Given the description of an element on the screen output the (x, y) to click on. 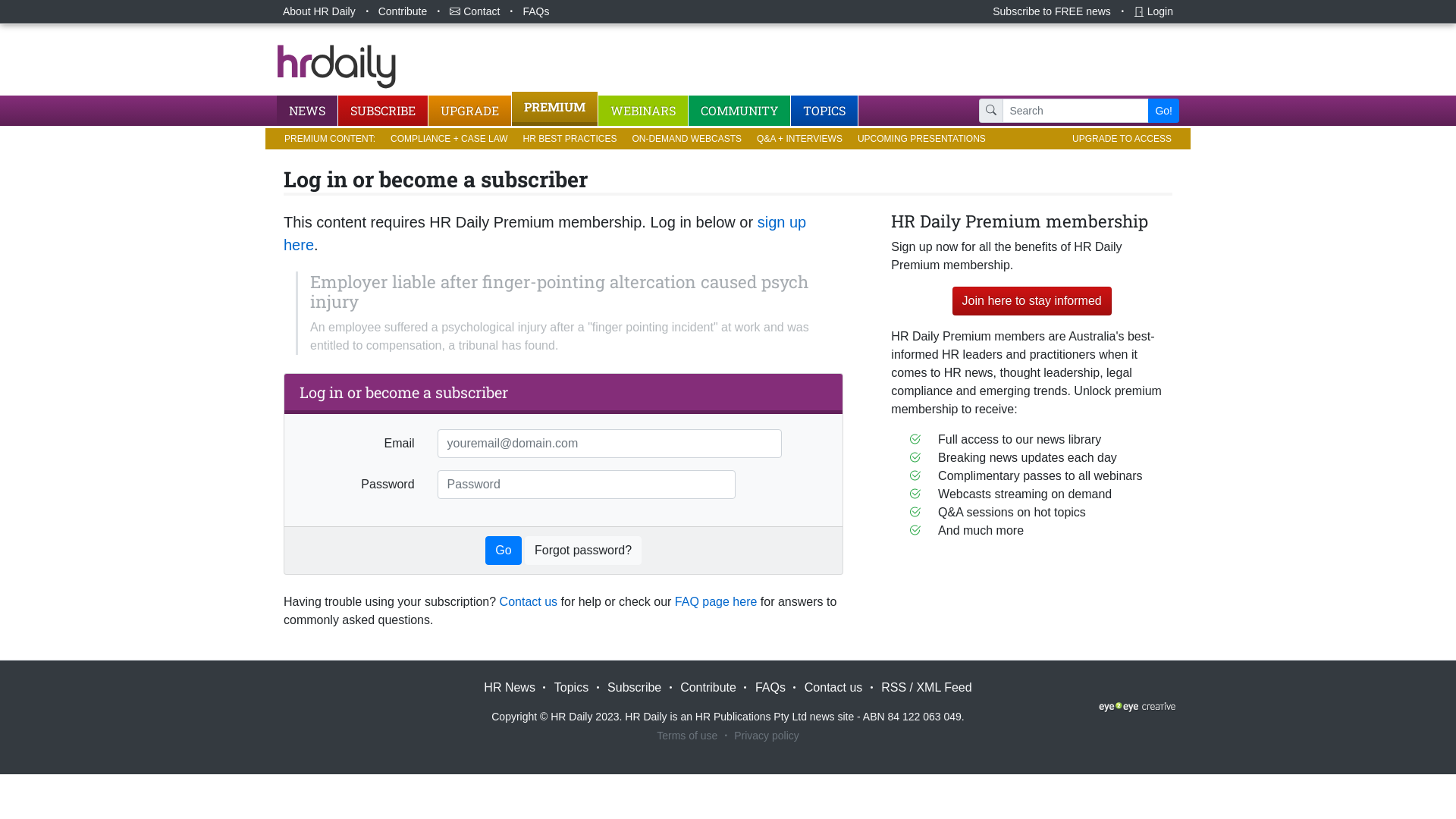
PREMIUM CONTENT: Element type: text (329, 138)
HR News Element type: text (509, 686)
Subscribe Element type: text (634, 686)
PREMIUM Element type: text (554, 108)
Login Element type: text (1153, 11)
HR BEST PRACTICES Element type: text (569, 138)
Go Element type: text (502, 550)
Contact us Element type: text (528, 601)
Privacy policy Element type: text (766, 735)
UPCOMING PRESENTATIONS Element type: text (921, 138)
UPGRADE Element type: text (469, 110)
Subscribe to FREE news Element type: text (1051, 11)
Website by Eye 2 Eye Creative Element type: hover (1137, 706)
Q&A + INTERVIEWS Element type: text (799, 138)
Join here to stay informed Element type: text (1031, 300)
Contribute Element type: text (402, 11)
About HR Daily Element type: text (318, 11)
FAQs Element type: text (535, 11)
COMMUNITY Element type: text (739, 110)
FAQ page here Element type: text (715, 601)
WEBINARS Element type: text (643, 110)
Go! Element type: text (1163, 110)
Contribute Element type: text (708, 686)
RSS / XML Feed Element type: text (926, 687)
Forgot password? Element type: text (582, 550)
UPGRADE TO ACCESS Element type: text (1121, 138)
SUBSCRIBE Element type: text (383, 110)
TOPICS Element type: text (824, 110)
Contact Element type: text (474, 11)
COMPLIANCE + CASE LAW Element type: text (448, 138)
Contact us Element type: text (833, 686)
ON-DEMAND WEBCASTS Element type: text (686, 138)
NEWS Element type: text (307, 110)
FAQs Element type: text (770, 686)
Topics Element type: text (571, 686)
sign up here Element type: text (544, 233)
Terms of use Element type: text (686, 735)
